Given the description of an element on the screen output the (x, y) to click on. 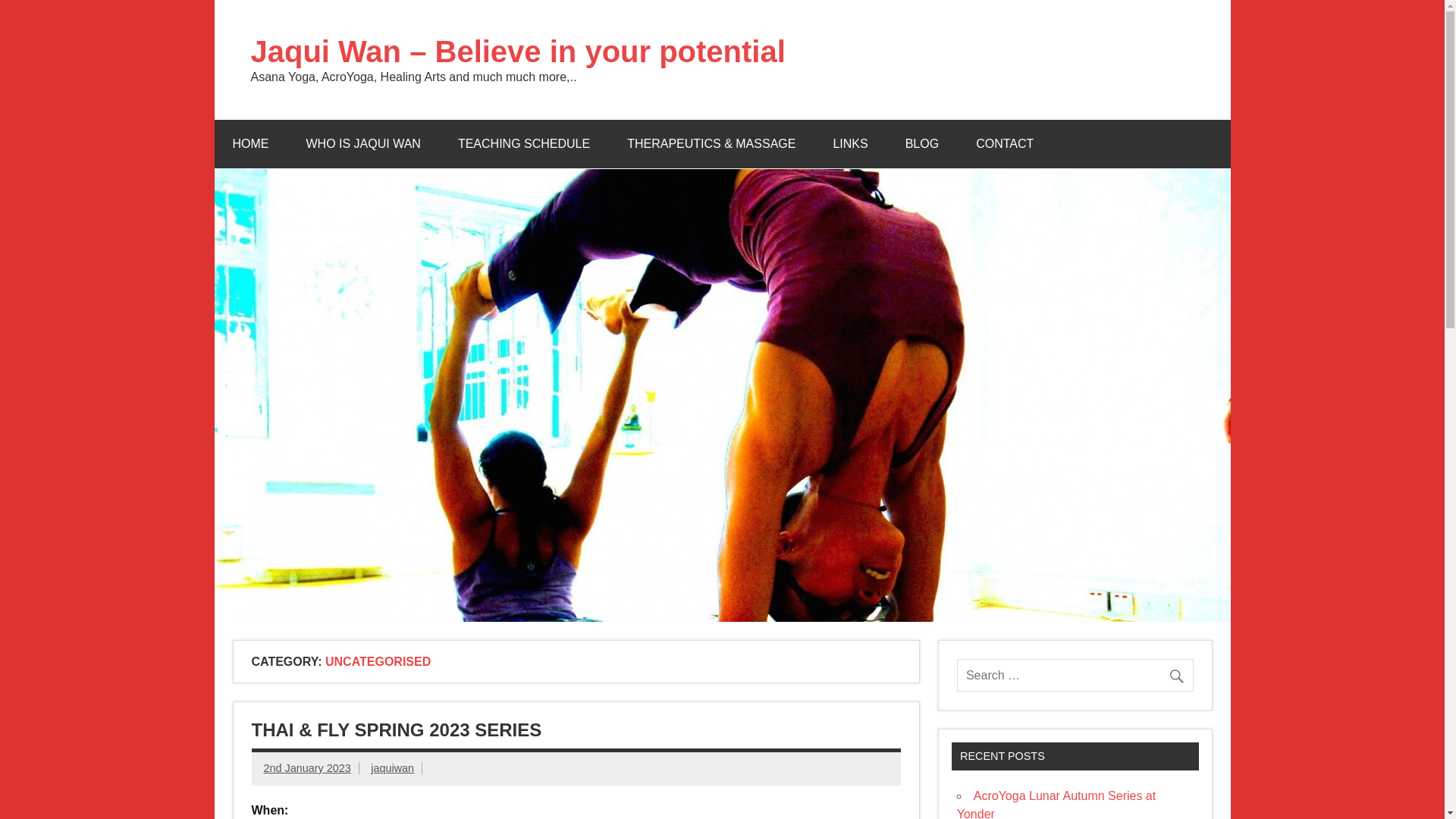
WHO IS JAQUI WAN (363, 143)
LINKS (849, 143)
BLOG (921, 143)
TEACHING SCHEDULE (523, 143)
CONTACT (1004, 143)
jaquiwan (392, 767)
HOME (250, 143)
AcroYoga Lunar Autumn Series at Yonder (1056, 804)
2nd January 2023 (306, 767)
View all posts by jaquiwan (392, 767)
